Given the description of an element on the screen output the (x, y) to click on. 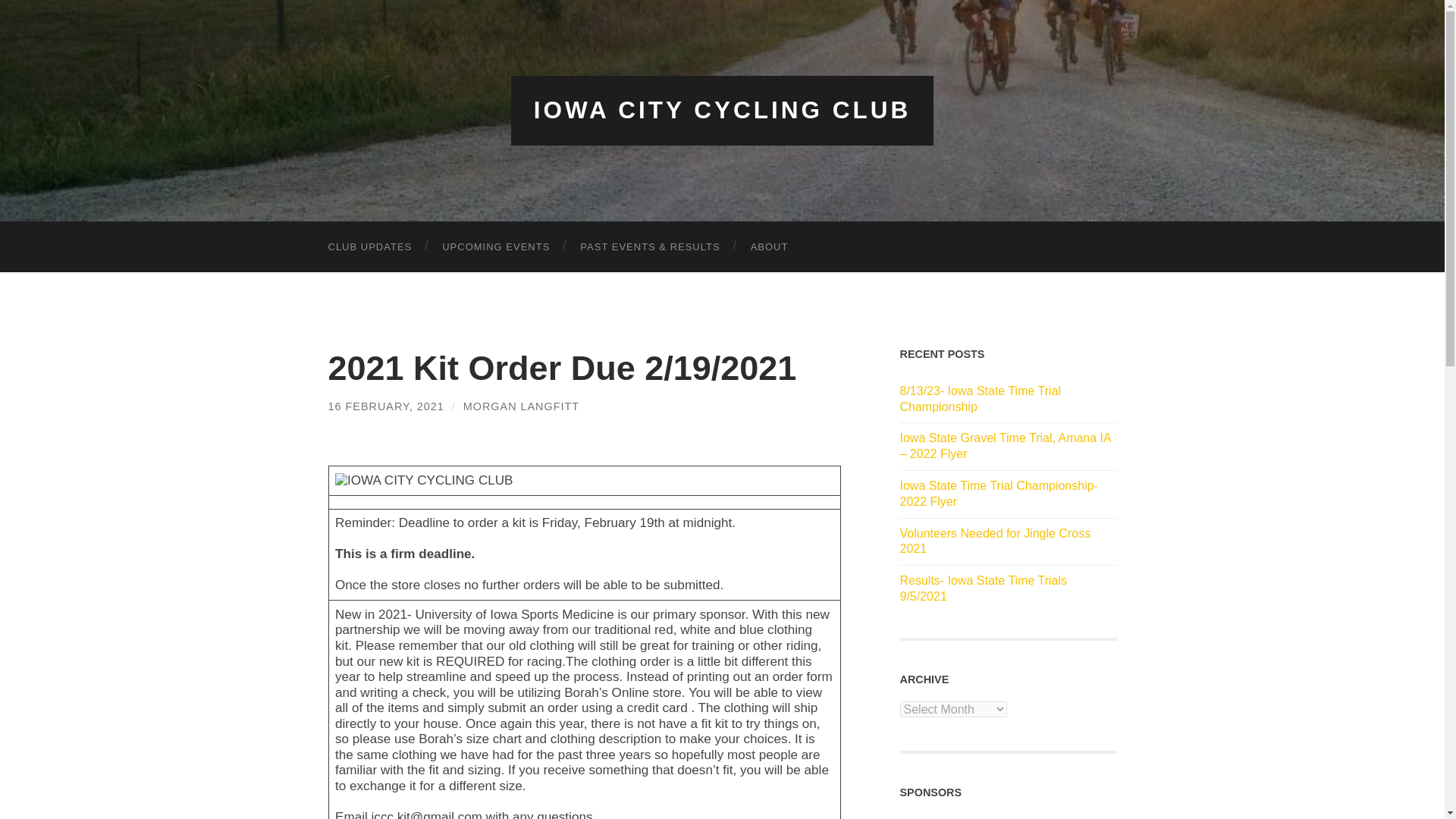
IOWA CITY CYCLING CLUB (722, 109)
Posts by Morgan Langfitt (521, 406)
16 FEBRUARY, 2021 (385, 406)
CLUB UPDATES (369, 246)
Iowa State Time Trial Championship- 2022 Flyer (1007, 494)
UPCOMING EVENTS (495, 246)
ABOUT (769, 246)
MORGAN LANGFITT (521, 406)
Volunteers Needed for Jingle Cross 2021 (1007, 541)
